Given the description of an element on the screen output the (x, y) to click on. 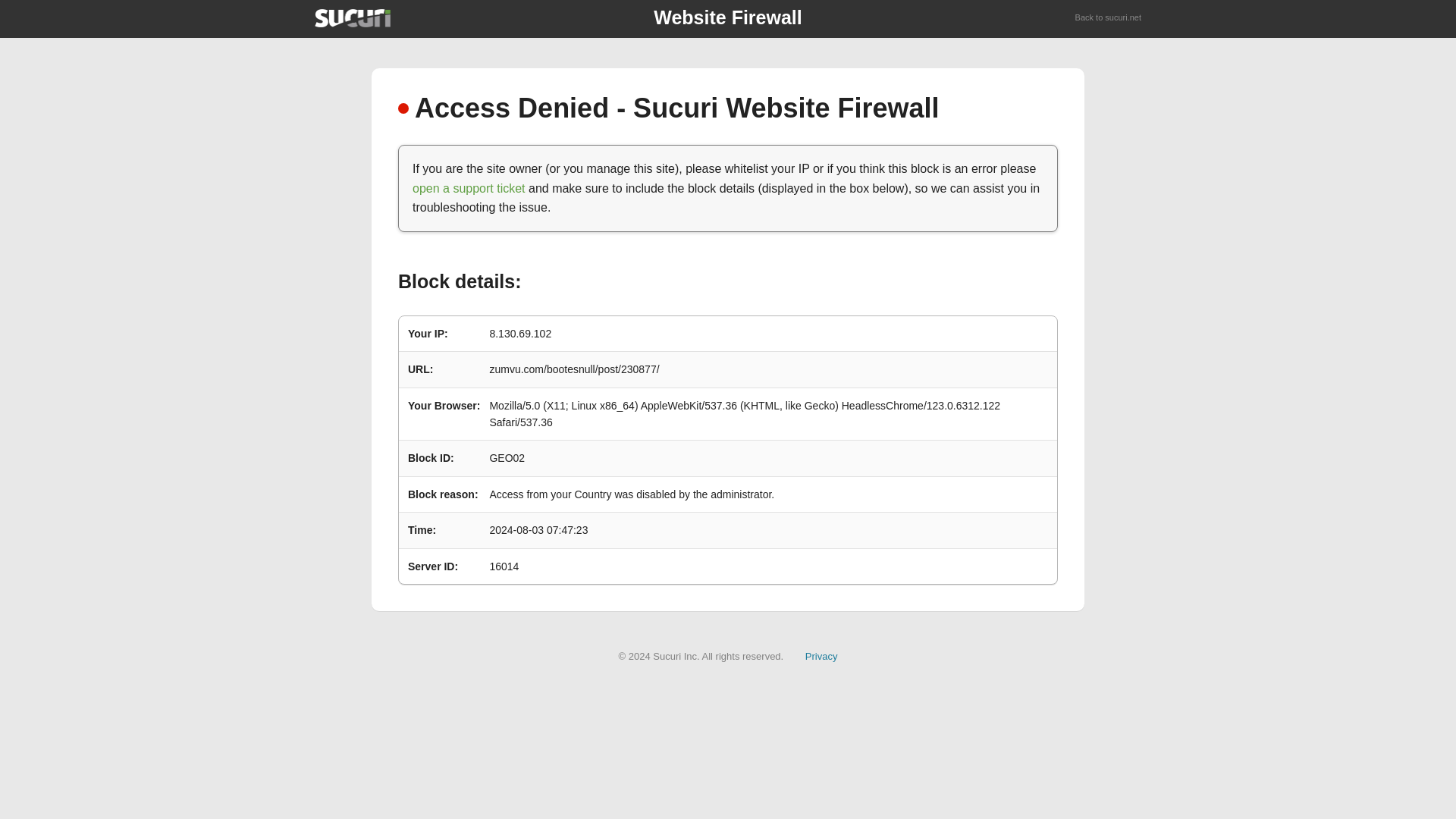
open a support ticket (468, 187)
Back to sucuri.net (1108, 18)
Privacy (821, 655)
